Given the description of an element on the screen output the (x, y) to click on. 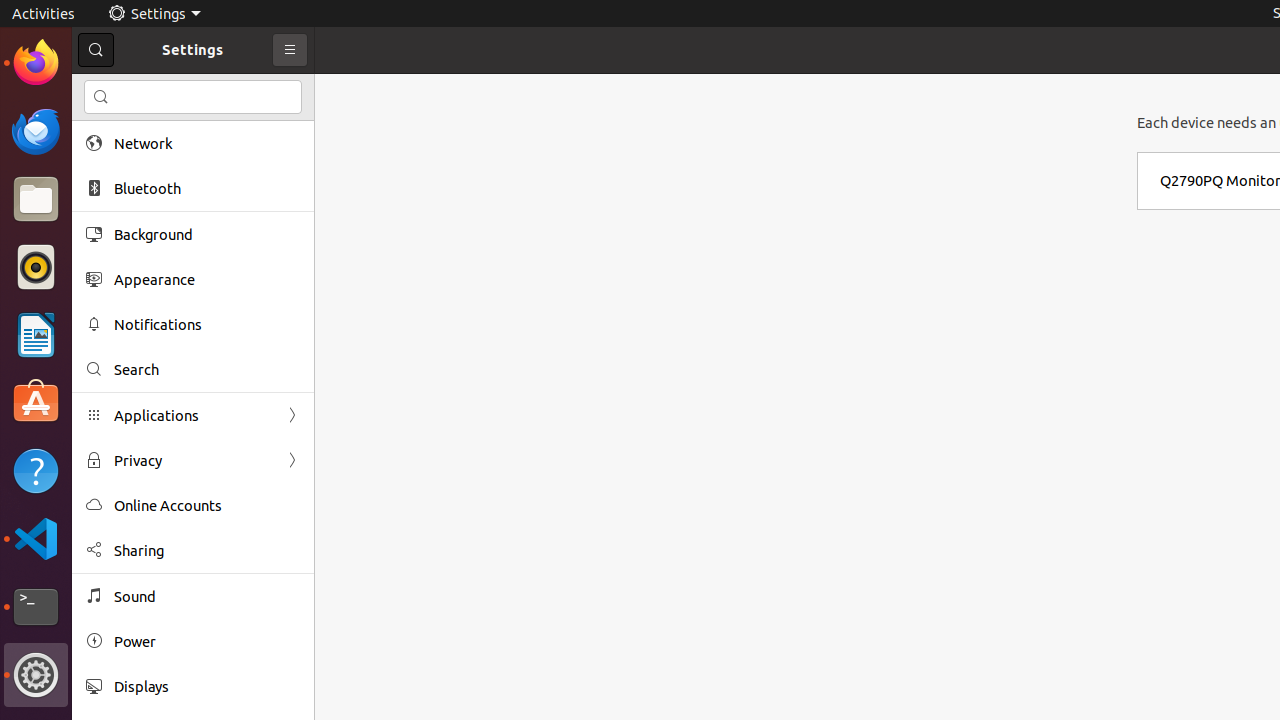
Notifications Element type: label (207, 324)
luyi1 Element type: label (133, 89)
Search Element type: label (207, 369)
Settings Element type: push-button (36, 675)
